Given the description of an element on the screen output the (x, y) to click on. 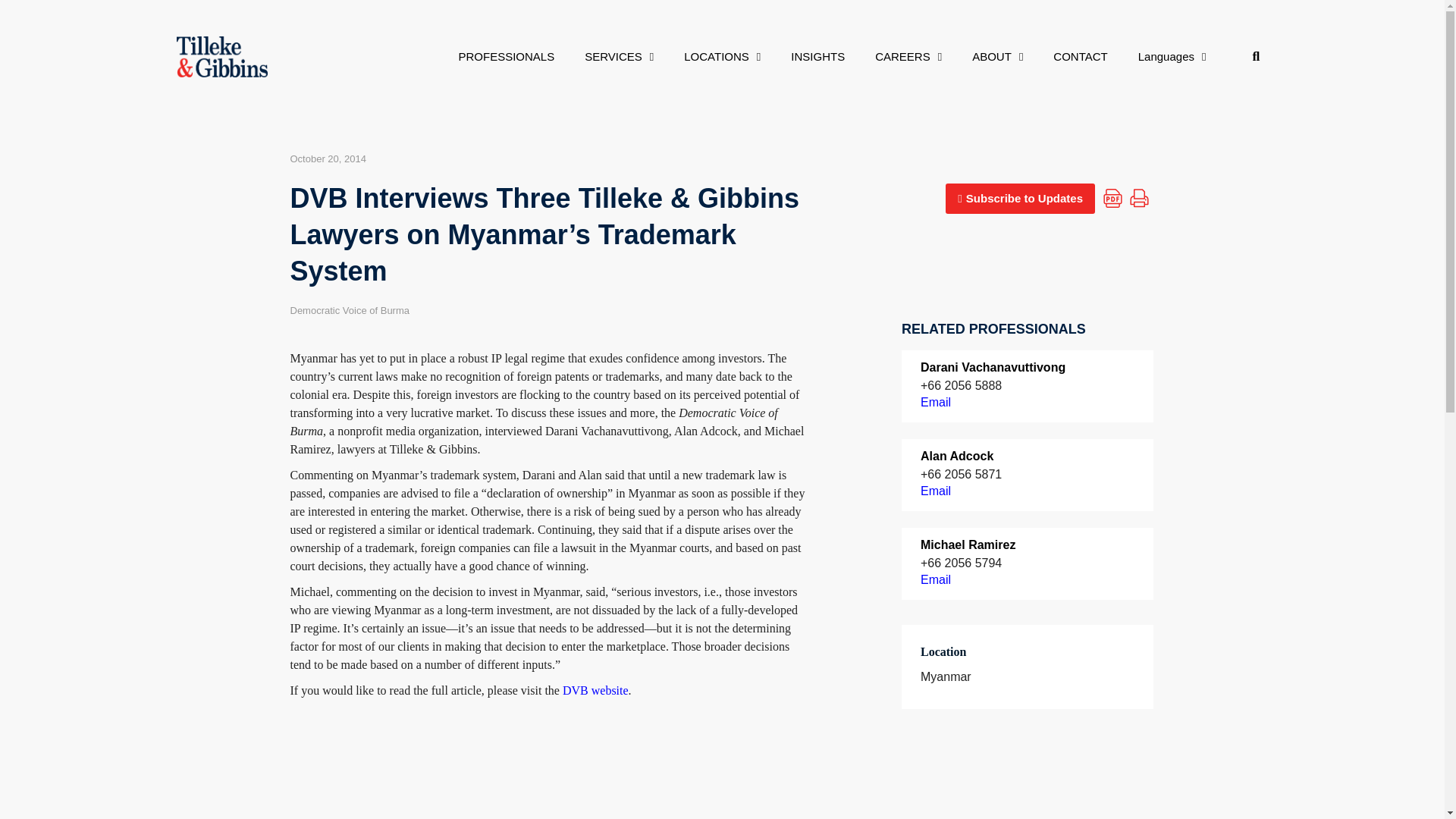
SERVICES (618, 56)
PROFESSIONALS (505, 56)
CAREERS (908, 56)
LOCATIONS (722, 56)
ABOUT (997, 56)
INSIGHTS (818, 56)
